Given the description of an element on the screen output the (x, y) to click on. 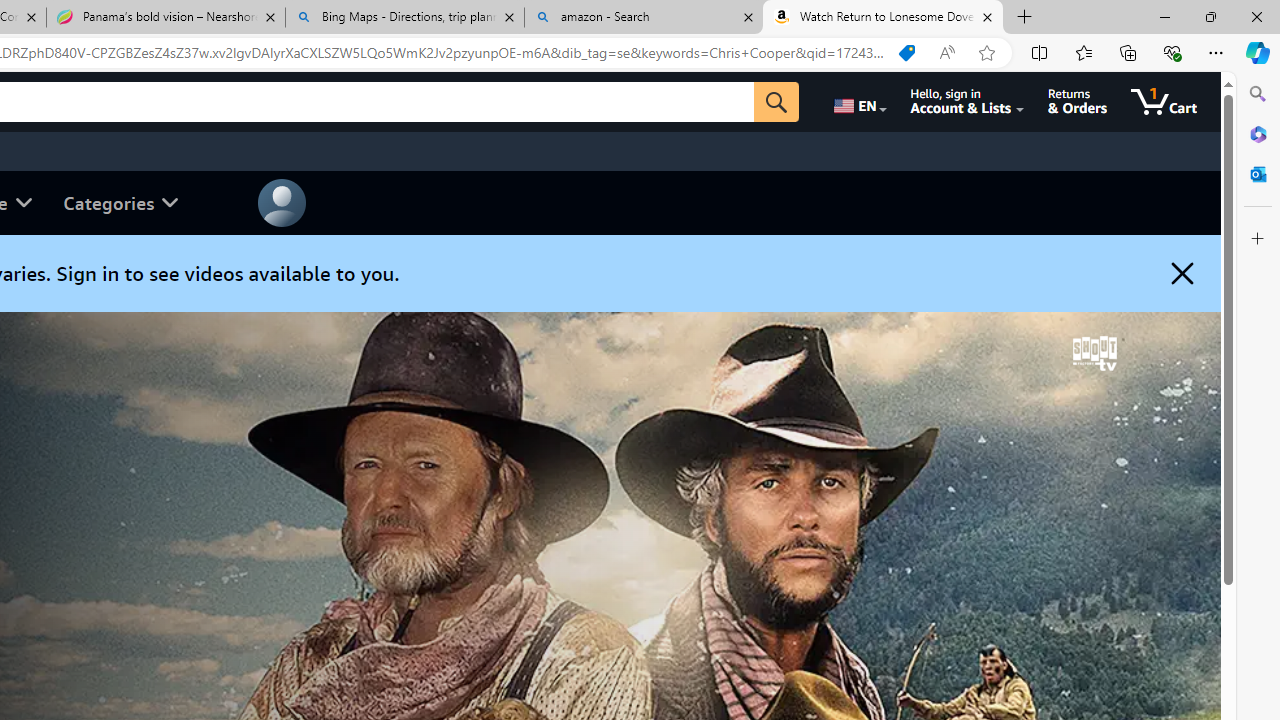
Hello, sign in Account & Lists (967, 101)
Dismiss button (1181, 273)
1 item in cart (1163, 101)
